Given the description of an element on the screen output the (x, y) to click on. 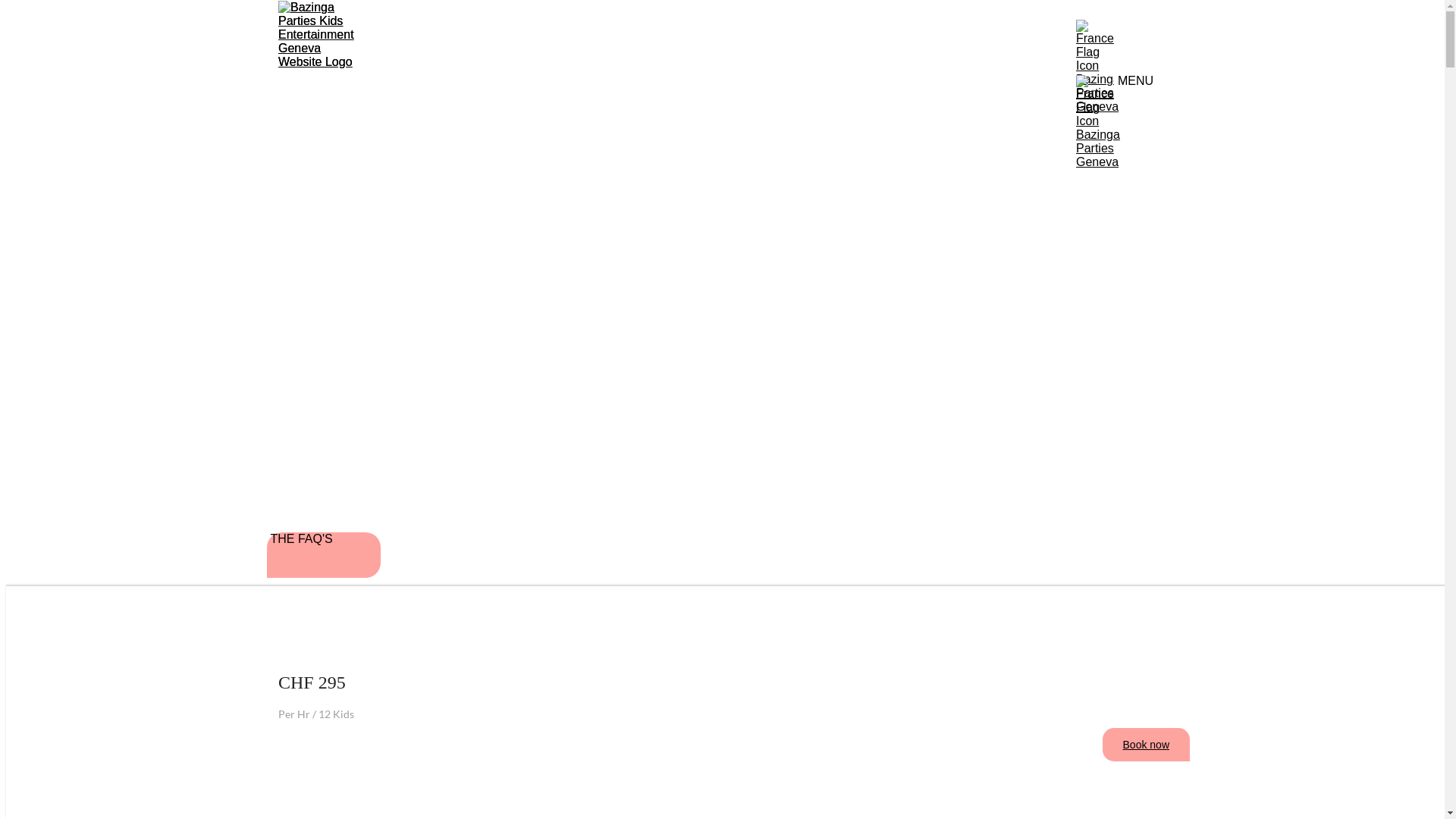
Book now Element type: text (1145, 744)
BOOK Element type: text (722, 620)
